Given the description of an element on the screen output the (x, y) to click on. 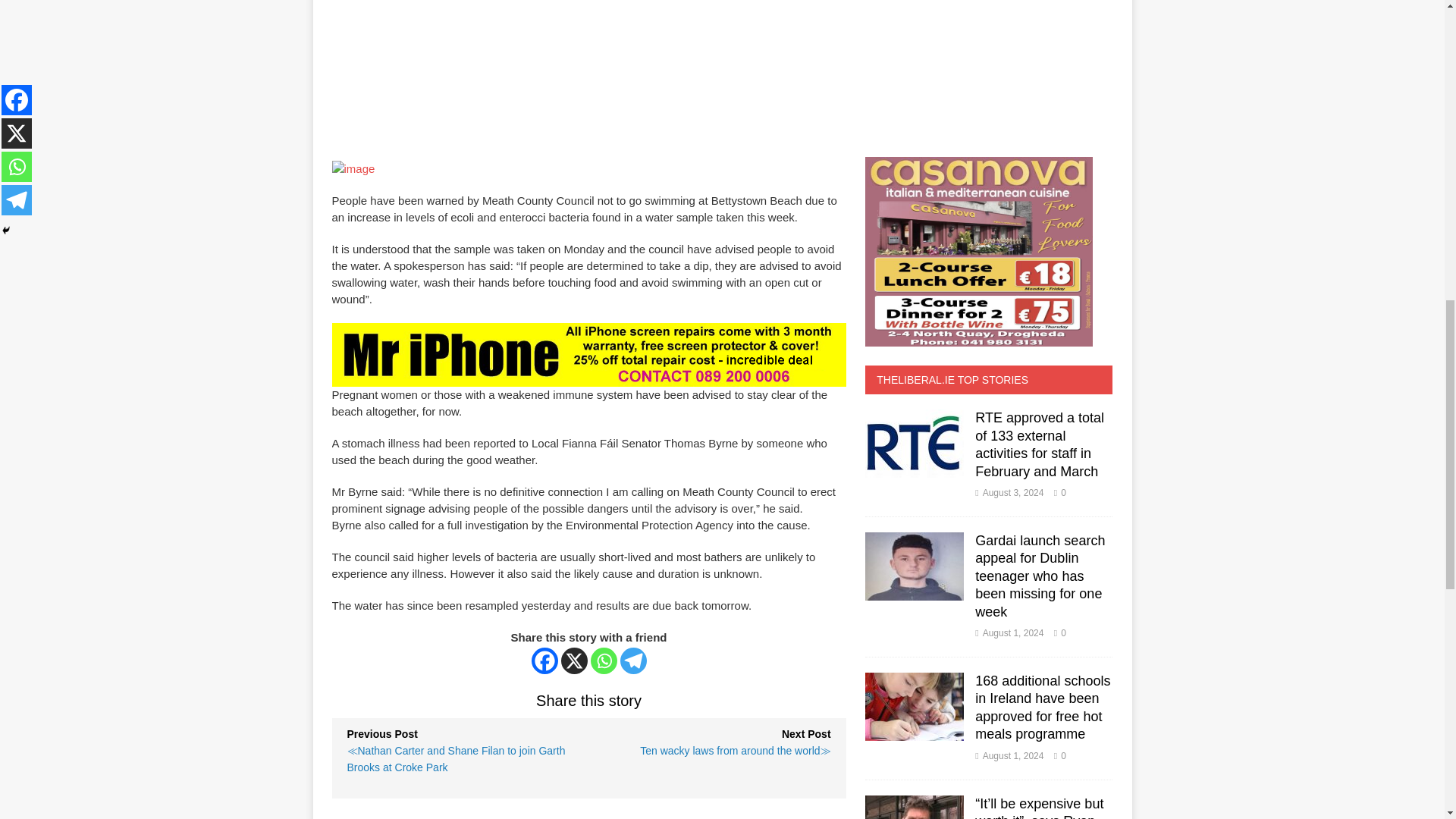
X (574, 660)
Whatsapp (604, 660)
Telegram (633, 660)
Facebook (544, 660)
Advertisement (453, 52)
